Given the description of an element on the screen output the (x, y) to click on. 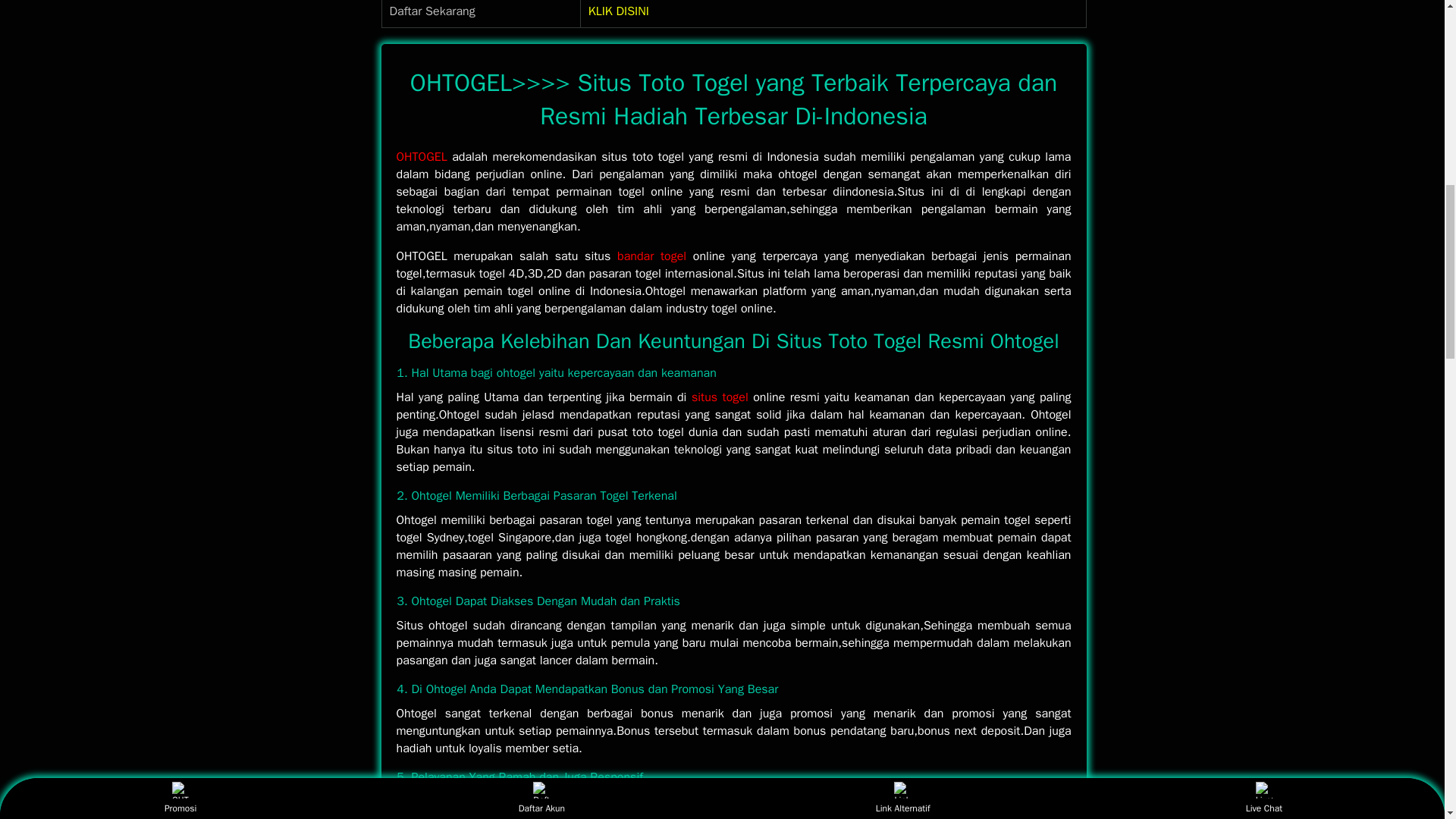
OHTOGEL (421, 156)
OHTOGEL (618, 11)
OHTOGEL (421, 156)
situs togel (721, 396)
OHTOGEL (651, 255)
bandar togel (651, 255)
OHTOGEL (721, 396)
KLIK DISINI (618, 11)
